Given the description of an element on the screen output the (x, y) to click on. 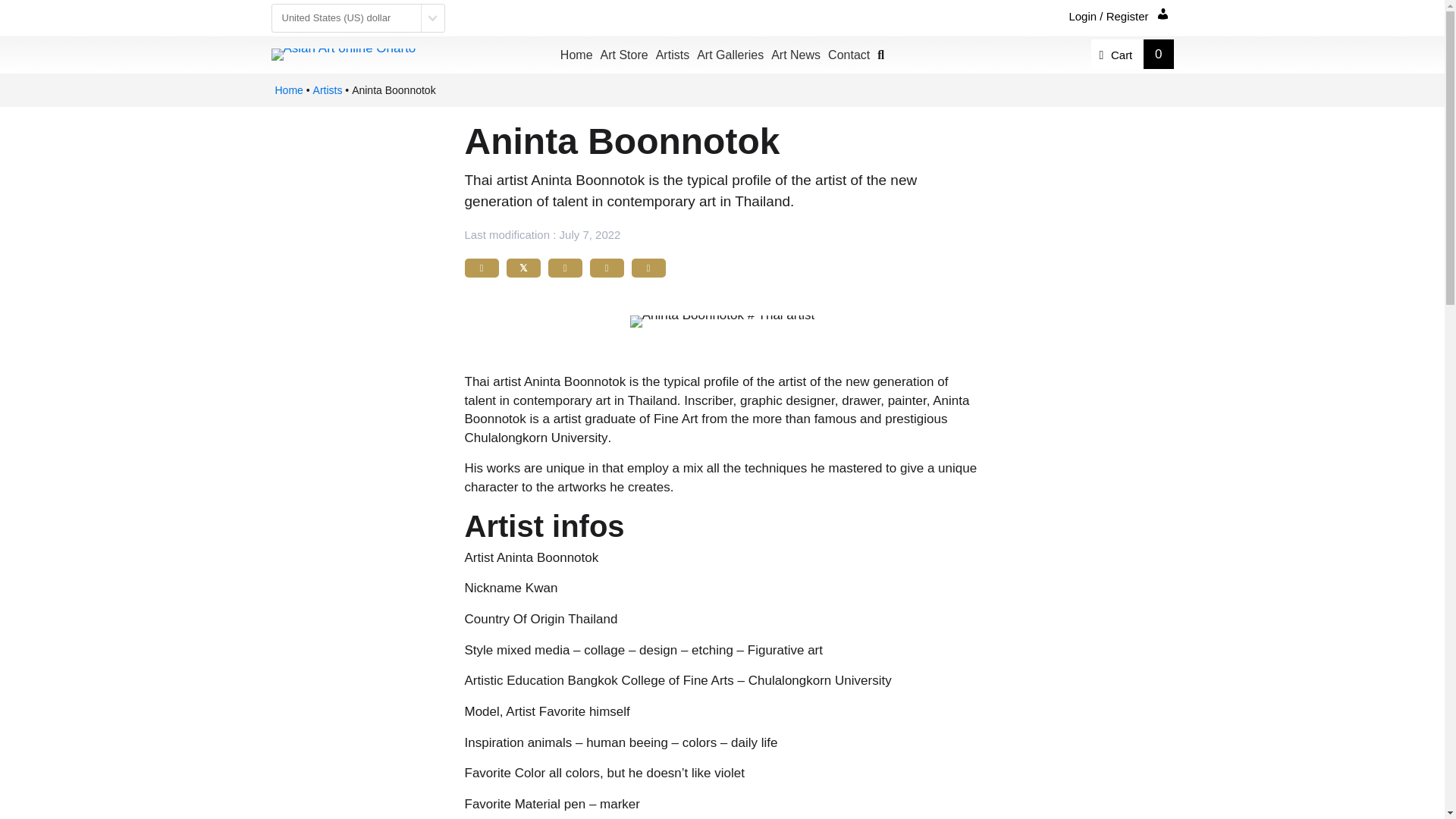
Artists (672, 54)
Art Store (624, 54)
Art News (795, 54)
Onarto-Logo-Art-Online-Web-2019 (343, 54)
Contact (848, 54)
Home (288, 89)
Cart (1116, 53)
Art Galleries (730, 54)
Artists (327, 89)
Home (576, 54)
